Given the description of an element on the screen output the (x, y) to click on. 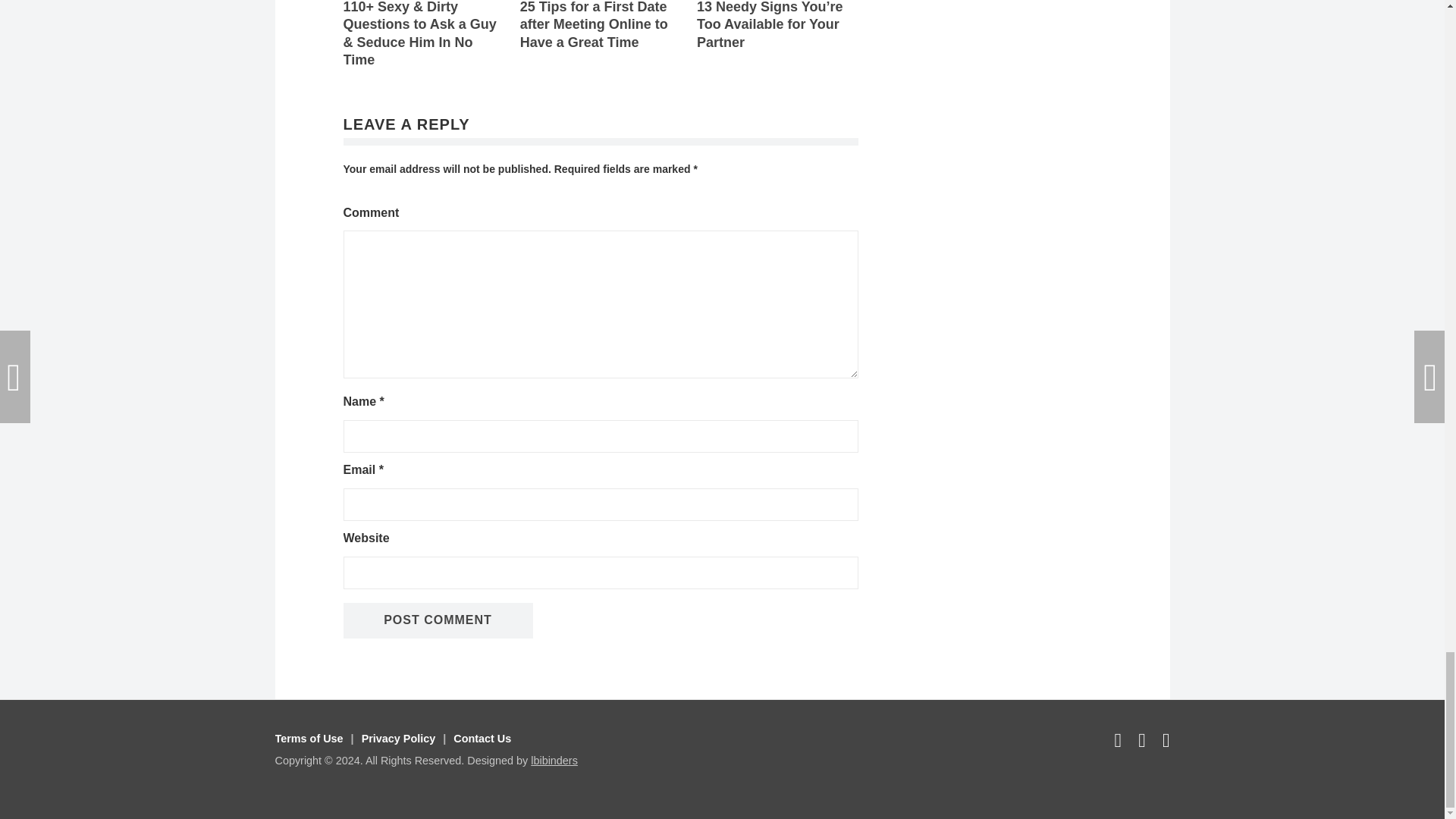
Post Comment (437, 620)
